Given the description of an element on the screen output the (x, y) to click on. 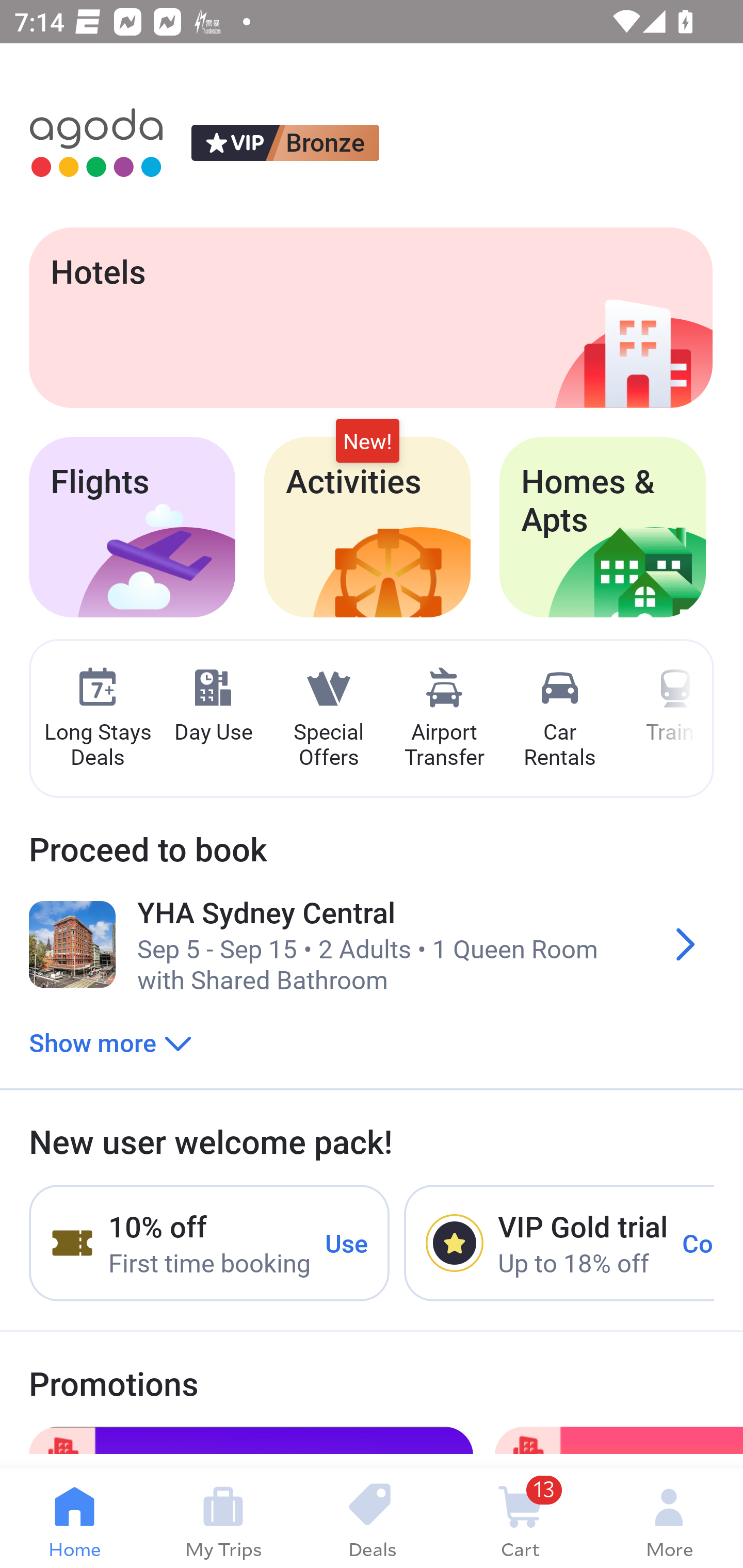
Hotels (370, 317)
New! (367, 441)
Flights (131, 527)
Activities (367, 527)
Homes & Apts (602, 527)
Day Use (213, 706)
Long Stays Deals (97, 718)
Special Offers (328, 718)
Airport Transfer (444, 718)
Car Rentals (559, 718)
Show more (110, 1041)
Use (346, 1242)
Home (74, 1518)
My Trips (222, 1518)
Deals (371, 1518)
13 Cart (519, 1518)
More (668, 1518)
